Given the description of an element on the screen output the (x, y) to click on. 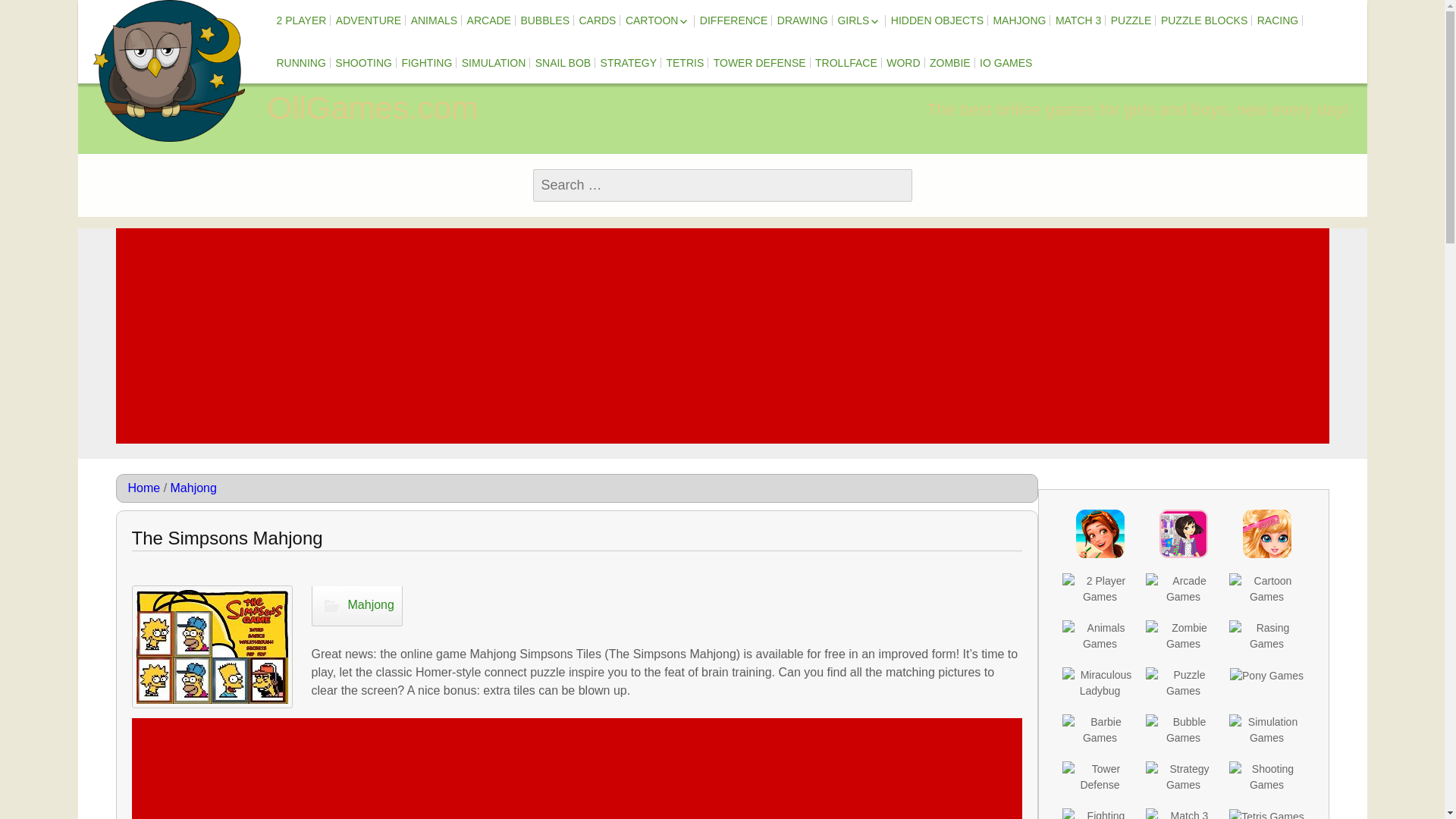
Home (144, 487)
SHOOTING (363, 62)
OllGames.com (168, 70)
GIRLS (858, 21)
Search (38, 13)
SIMULATION (493, 62)
ADVENTURE (368, 20)
LADYBUG (709, 54)
CARTOON (658, 21)
DRAWING (802, 20)
TETRIS (683, 62)
FIGHTING (425, 62)
The Simpsons Mahjong (212, 646)
DIFFERENCE (733, 20)
ARCADE (488, 20)
